Given the description of an element on the screen output the (x, y) to click on. 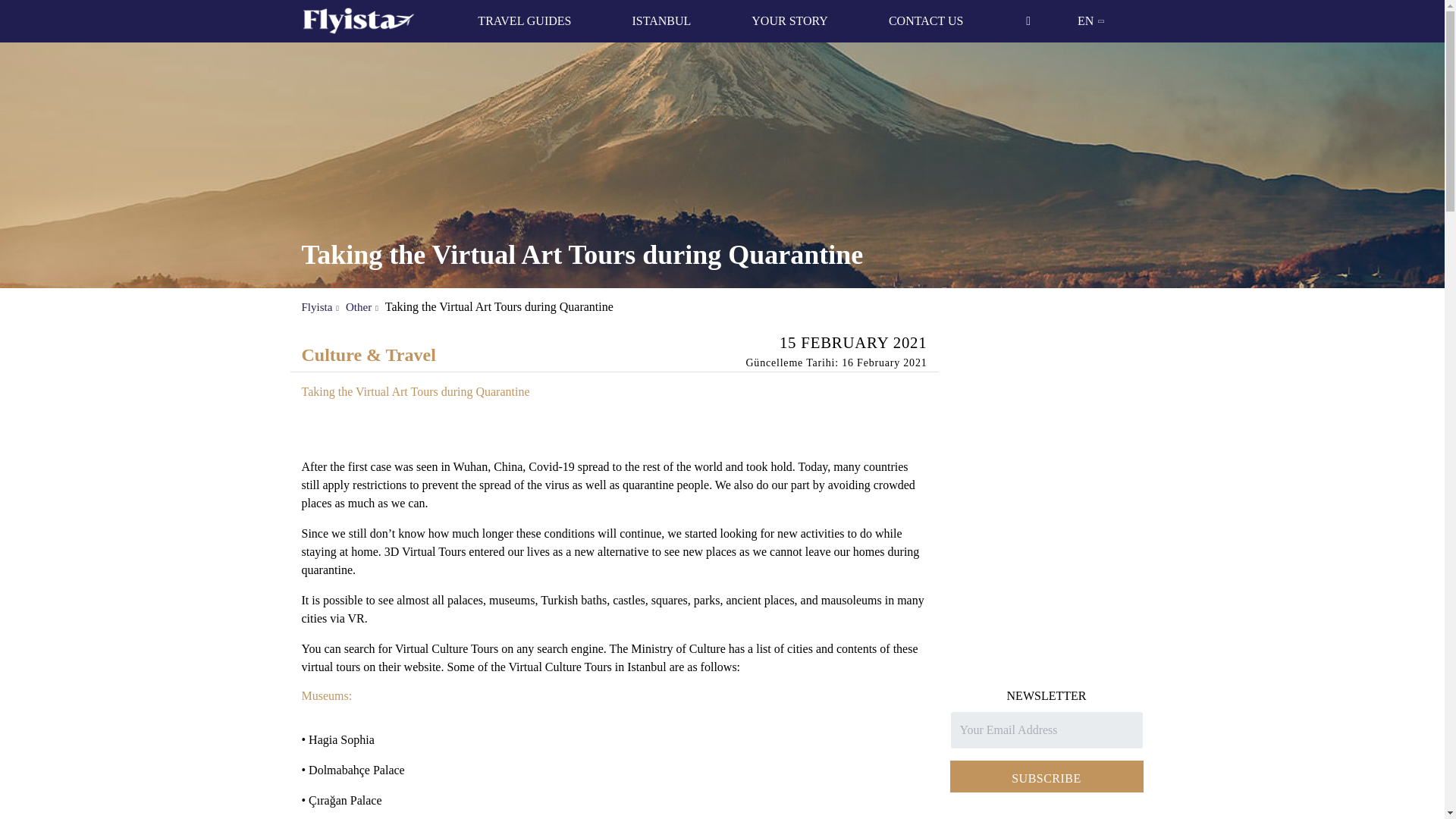
SUBSCRIBE (1045, 776)
TRAVEL GUIDES (523, 20)
